Given the description of an element on the screen output the (x, y) to click on. 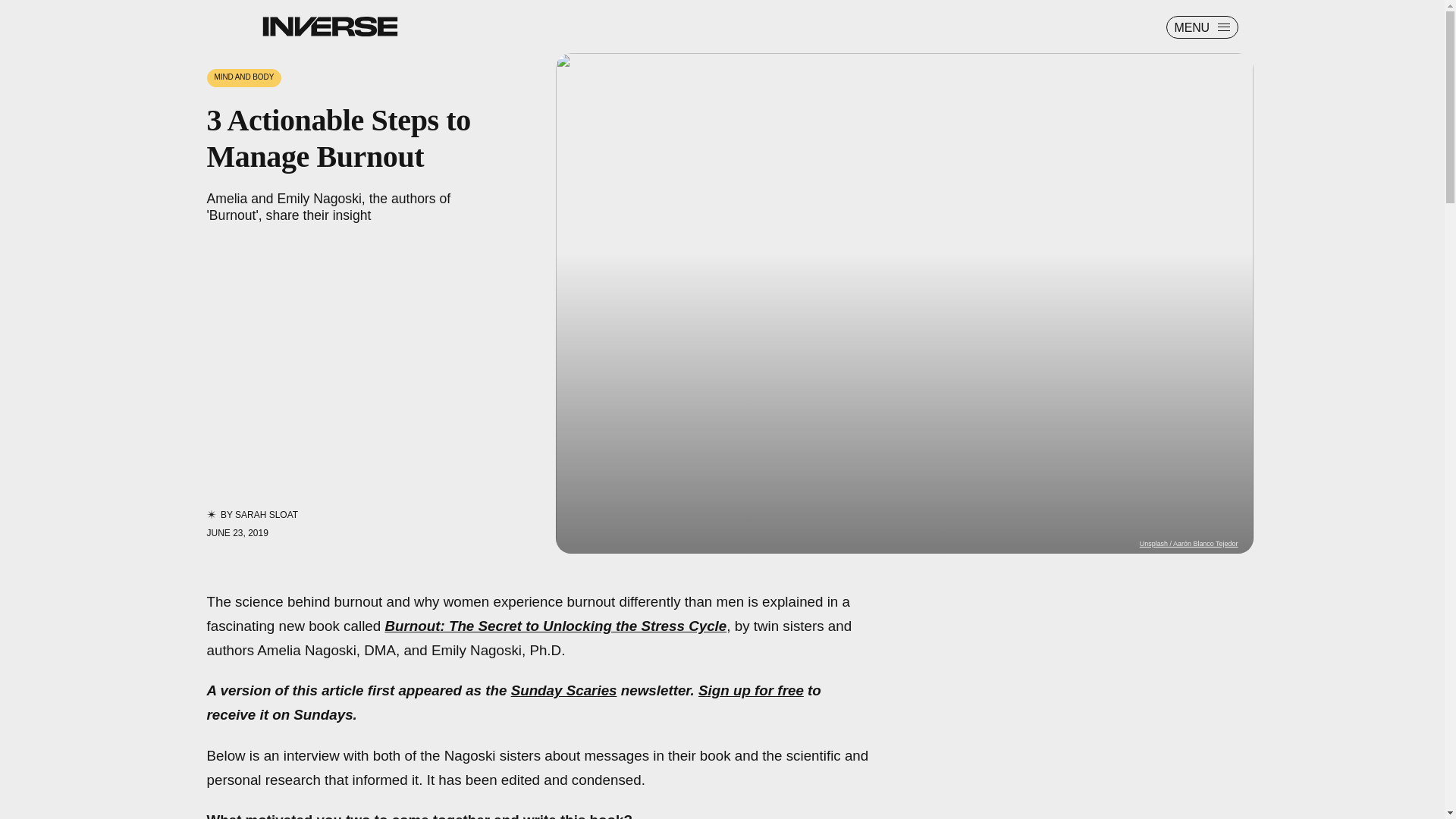
Burnout: The Secret to Unlocking the Stress Cycle (555, 625)
Sunday Scaries (564, 690)
Sign up for free (750, 690)
Inverse (328, 26)
SARAH SLOAT (266, 514)
